Given the description of an element on the screen output the (x, y) to click on. 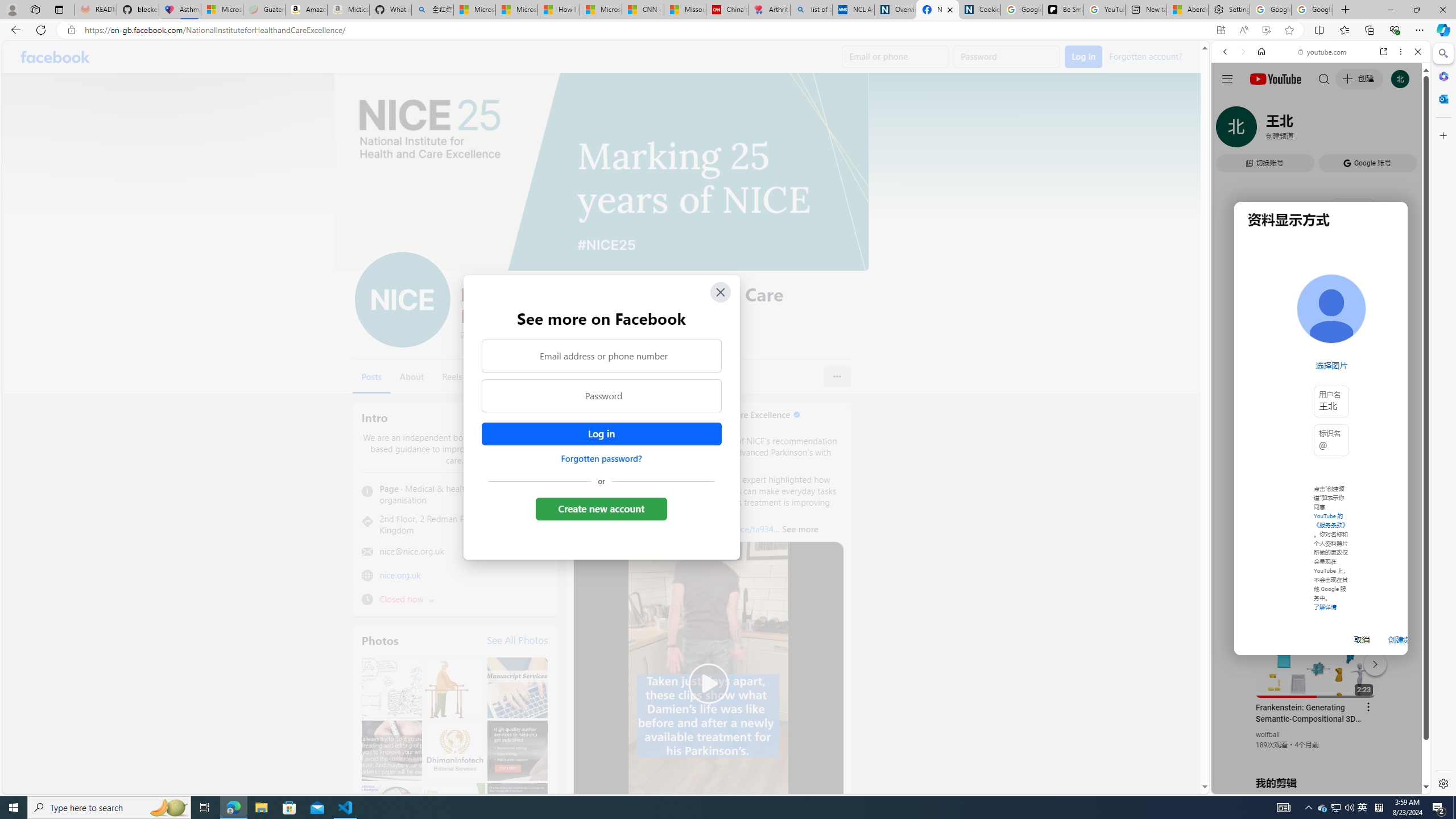
Email or phone (895, 56)
